Given the description of an element on the screen output the (x, y) to click on. 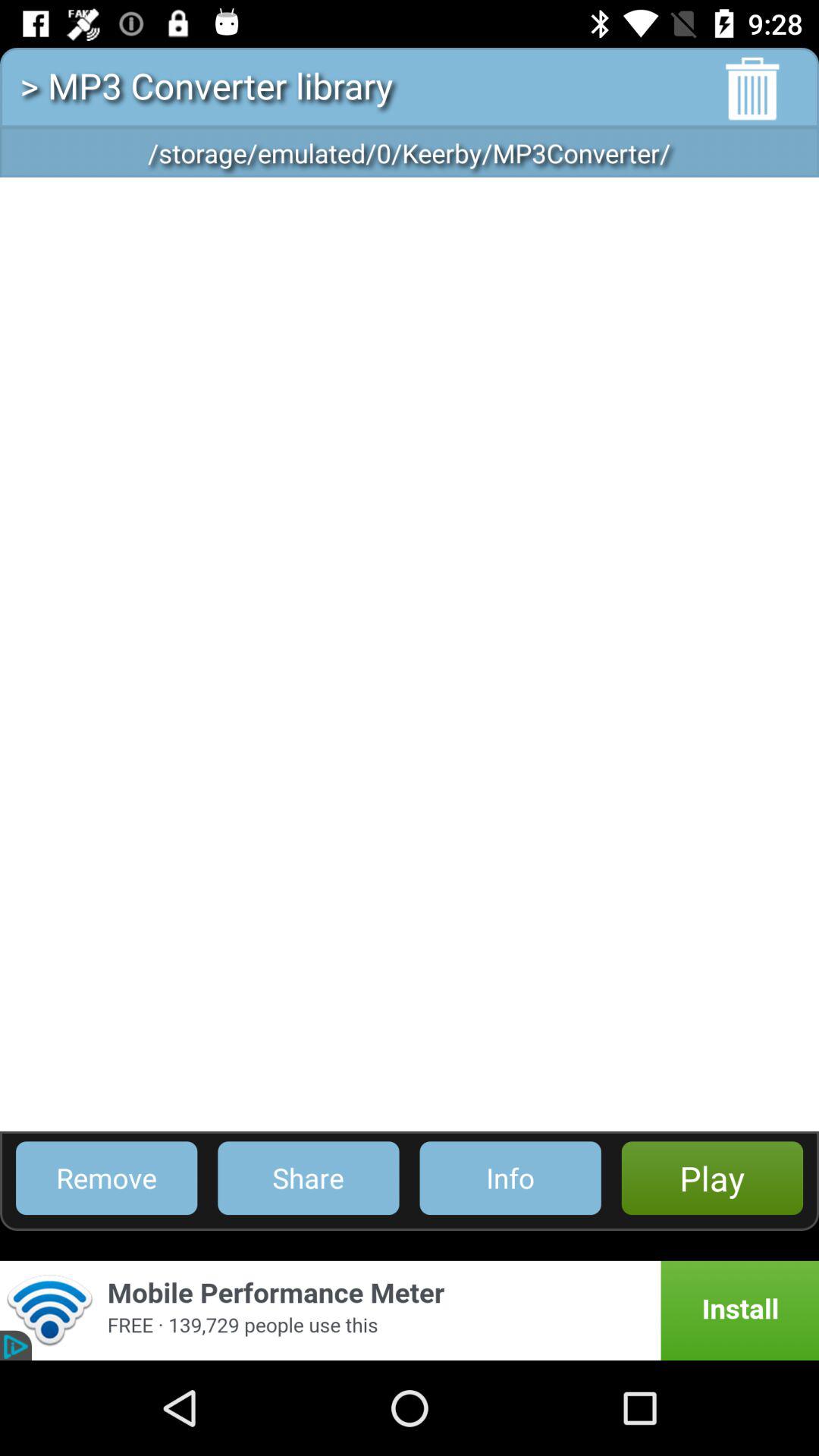
click the item to the right of share icon (510, 1177)
